Given the description of an element on the screen output the (x, y) to click on. 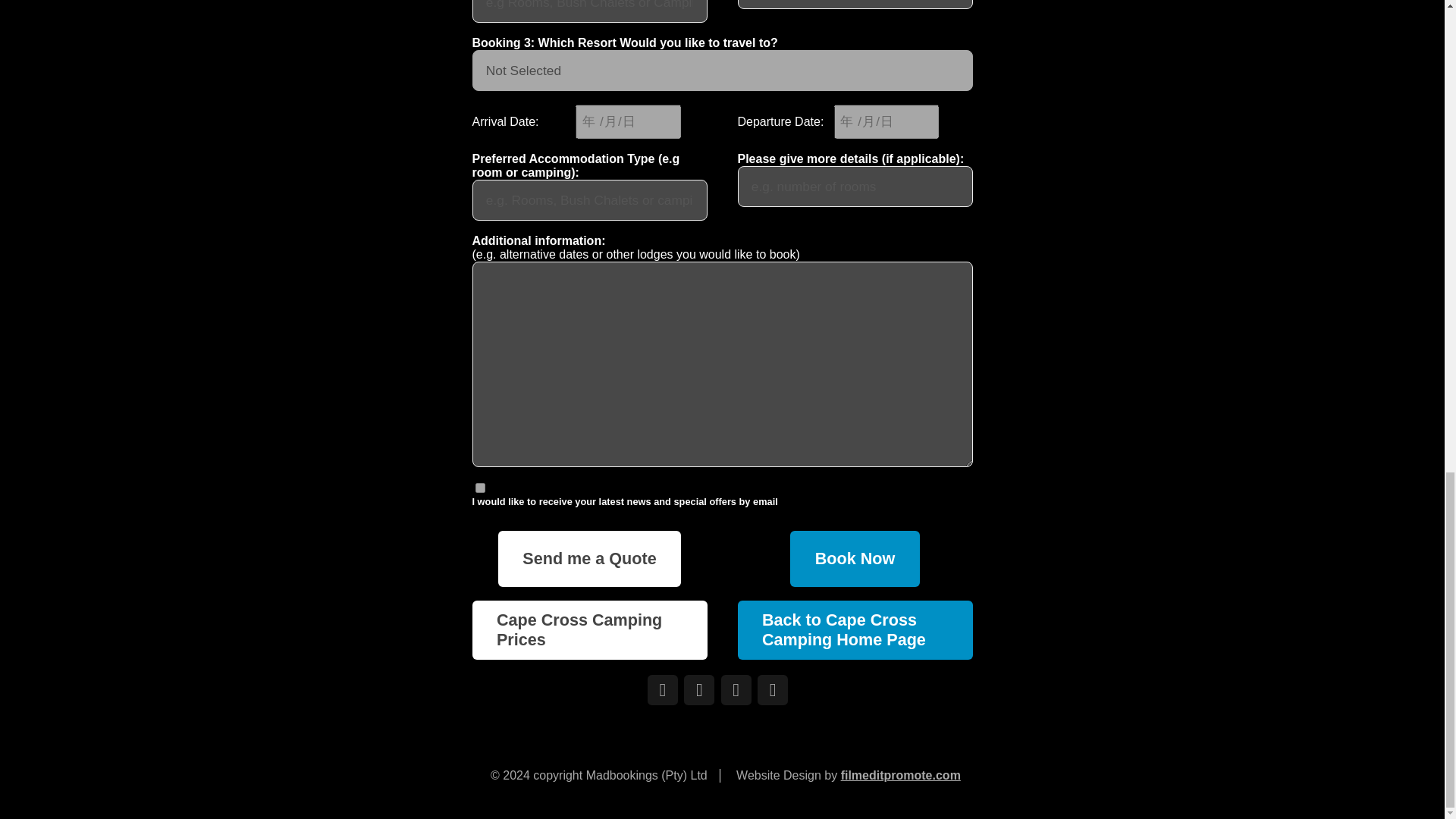
Send me a Quote (589, 559)
Book Now (854, 559)
Book Now (854, 559)
filmeditpromote.com (900, 775)
Back to Cape Cross Camping Home Page (854, 630)
Cape Cross Camping Prices (588, 630)
Send me a Quote (589, 559)
